Given the description of an element on the screen output the (x, y) to click on. 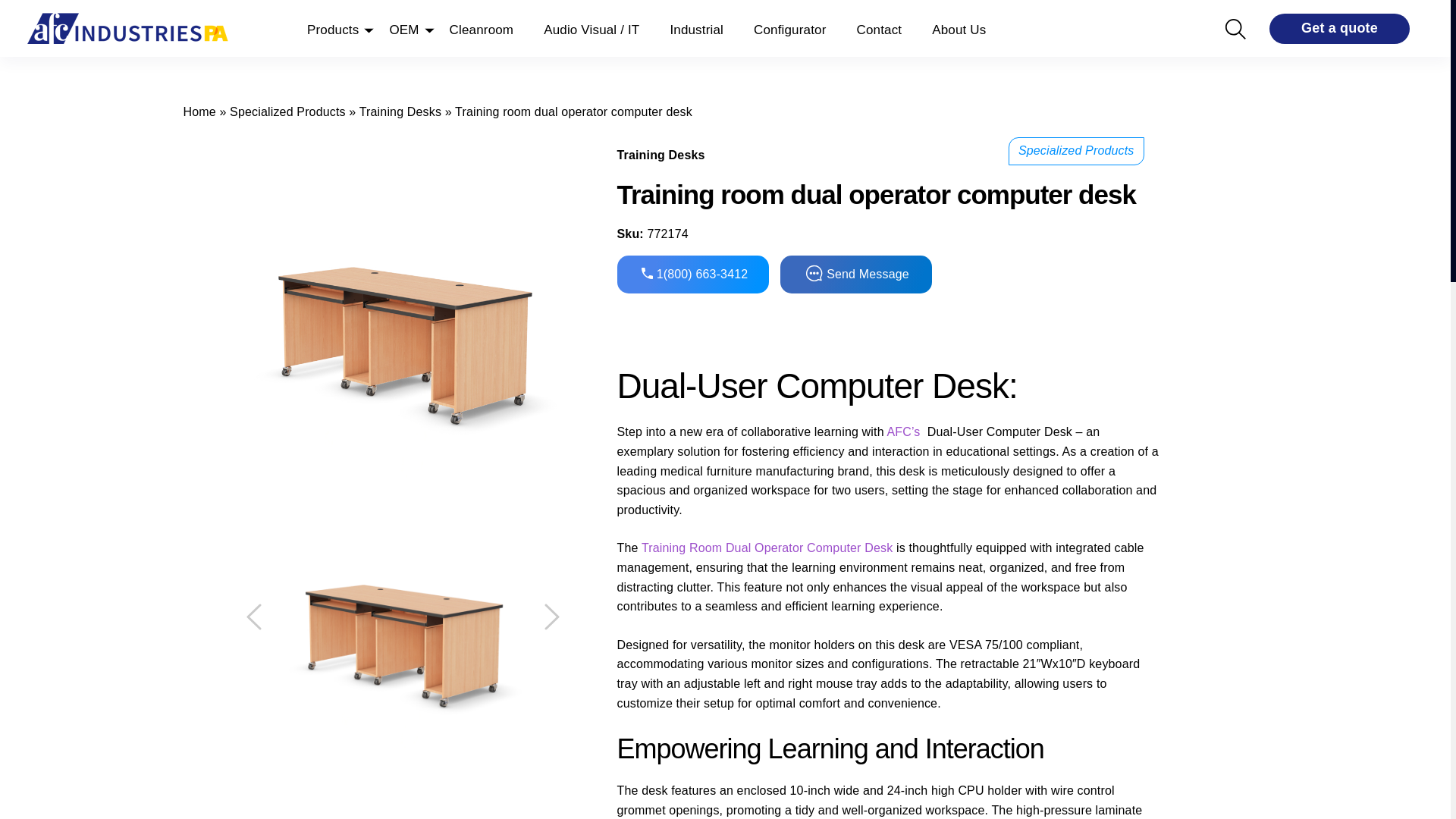
Training Desks (400, 111)
Send Message (854, 274)
Get a quote (1339, 28)
Specialized Products (288, 111)
Training Room Dual Operator Computer Desk (767, 547)
Cleanroom (481, 28)
Products (332, 28)
Industrial (696, 28)
Home (199, 111)
Configurator (789, 28)
